Given the description of an element on the screen output the (x, y) to click on. 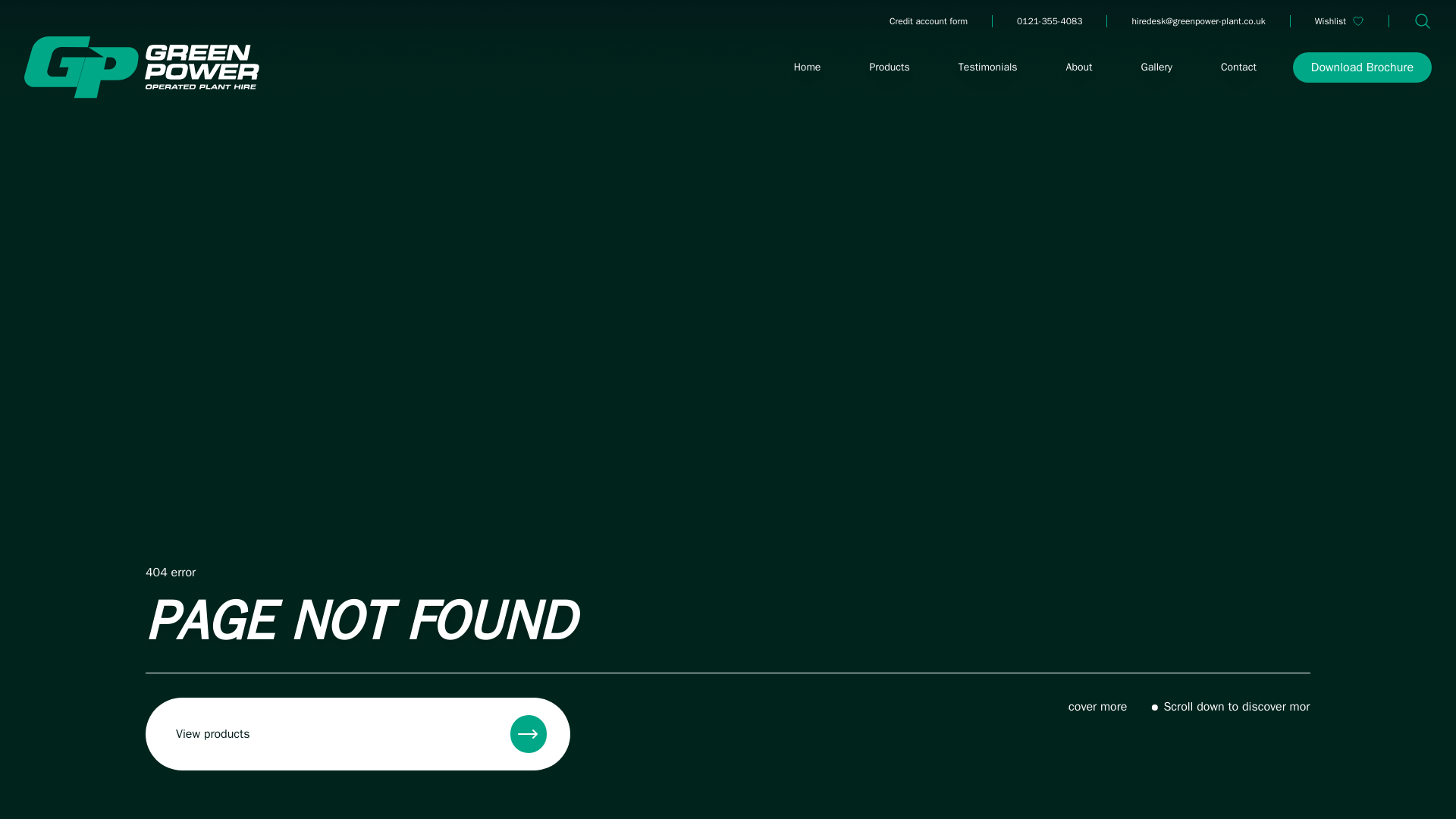
Products (889, 67)
About (1079, 67)
0121-355-4083 (1048, 21)
Contact (1238, 67)
Home (806, 67)
Gallery (1157, 67)
Credit account form (928, 21)
Testimonials (987, 67)
